Given the description of an element on the screen output the (x, y) to click on. 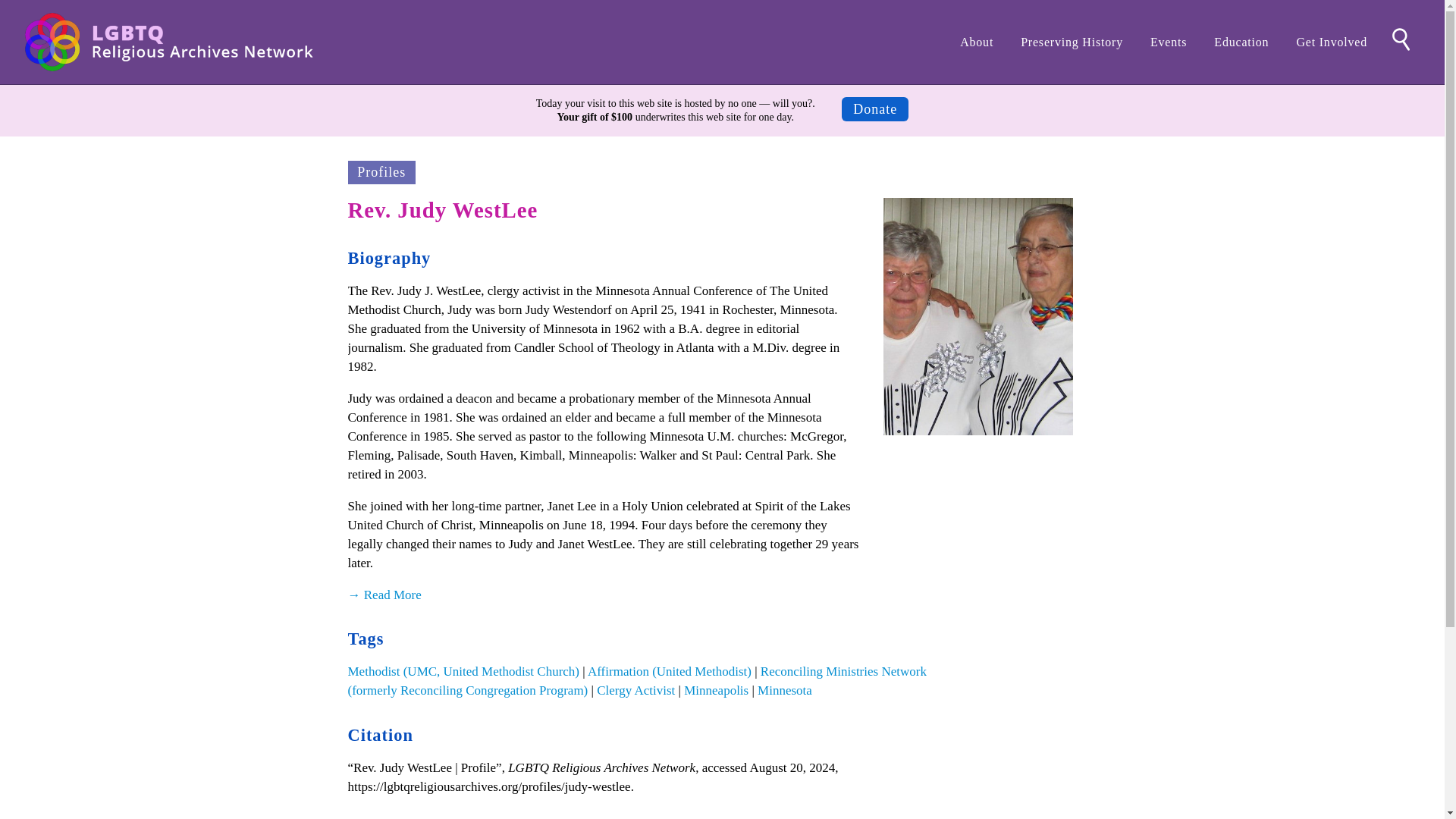
Minnesota (784, 690)
About (976, 42)
Profiles (381, 171)
Events (1168, 42)
Minneapolis (716, 690)
search (1401, 39)
Clergy Activist (635, 690)
Education (1241, 42)
Donate (874, 109)
Get Involved (1331, 42)
